Given the description of an element on the screen output the (x, y) to click on. 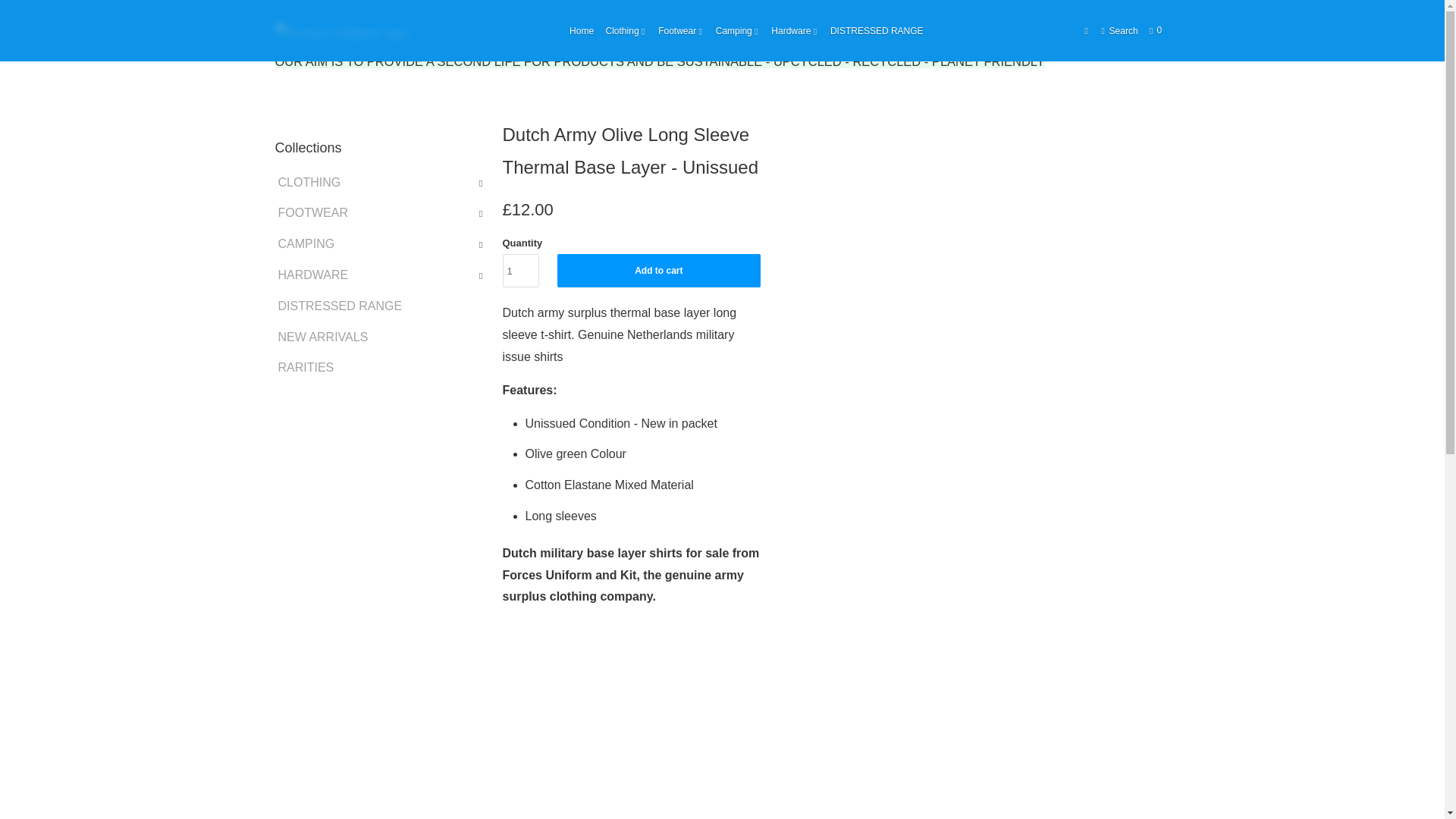
Home (581, 30)
Search (1118, 30)
Clothing (625, 30)
Forces Uniform and Kit (289, 31)
Products (336, 31)
Forces Uniform and Kit (342, 30)
1 (520, 270)
